Given the description of an element on the screen output the (x, y) to click on. 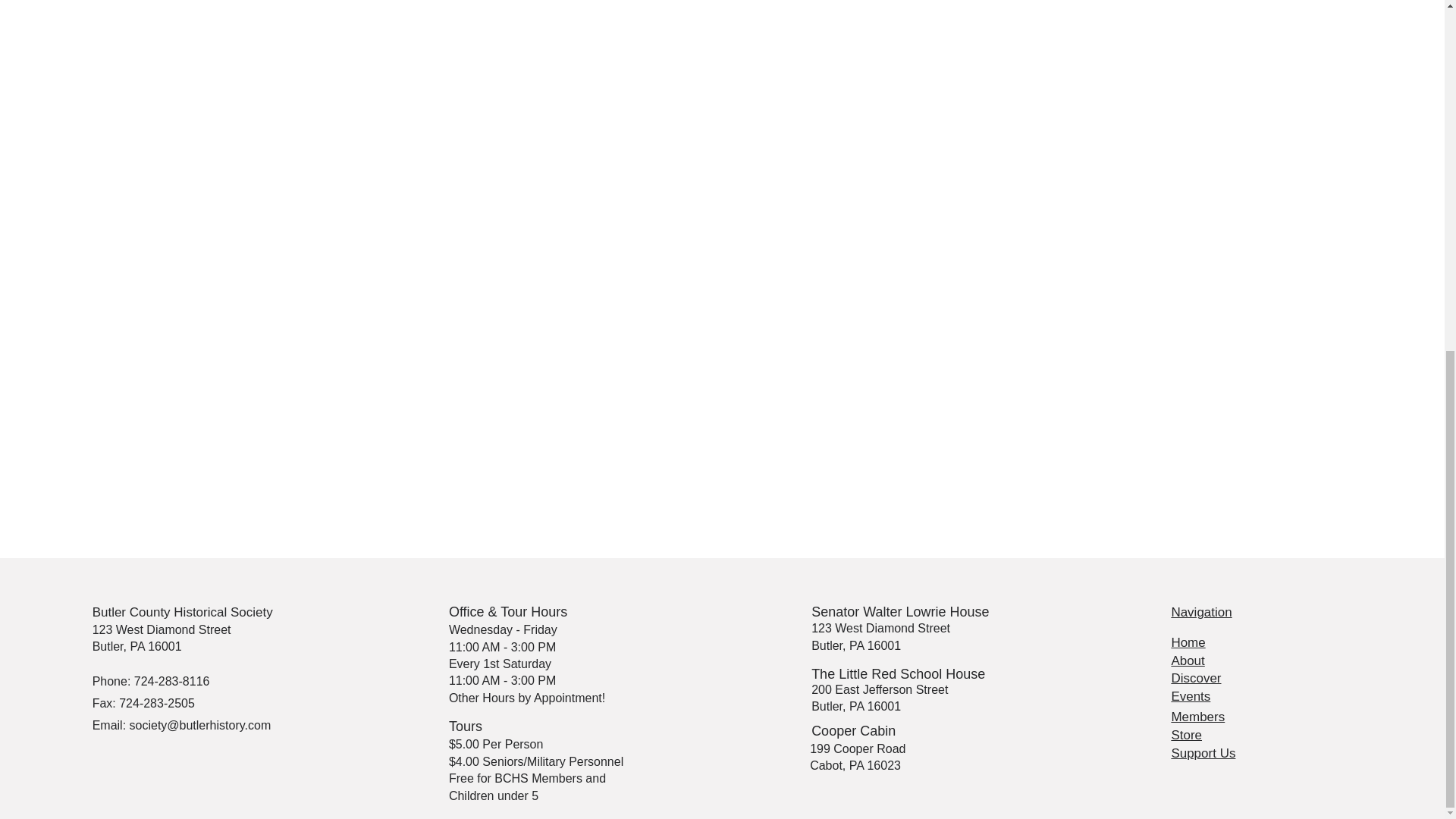
Store (1186, 735)
About (1187, 660)
Home (1187, 642)
Members (1197, 716)
Discover (1195, 677)
Events (1189, 696)
Support Us (1202, 753)
